Given the description of an element on the screen output the (x, y) to click on. 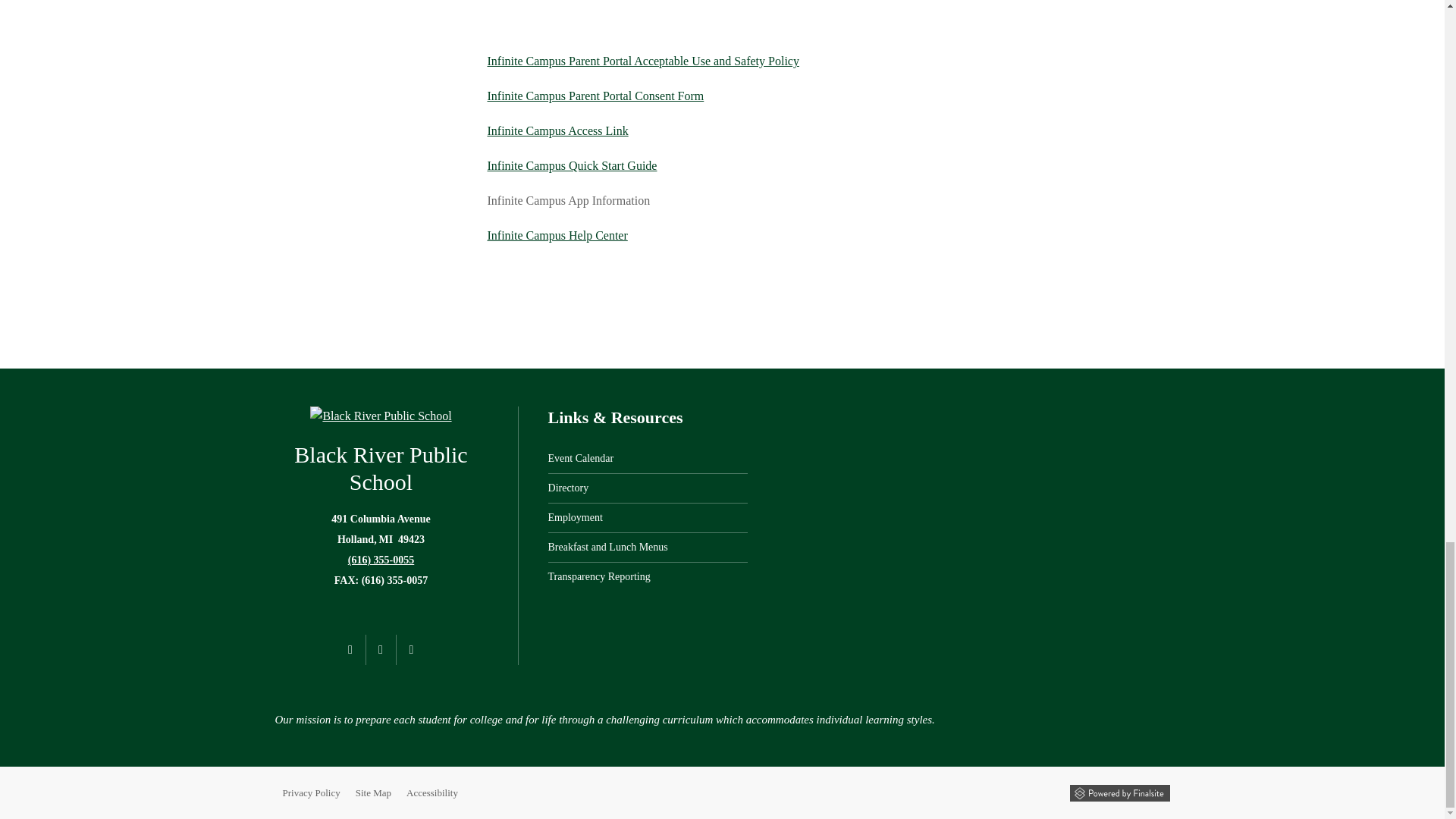
Powered by Finalsite opens in a new window (1118, 791)
